Given the description of an element on the screen output the (x, y) to click on. 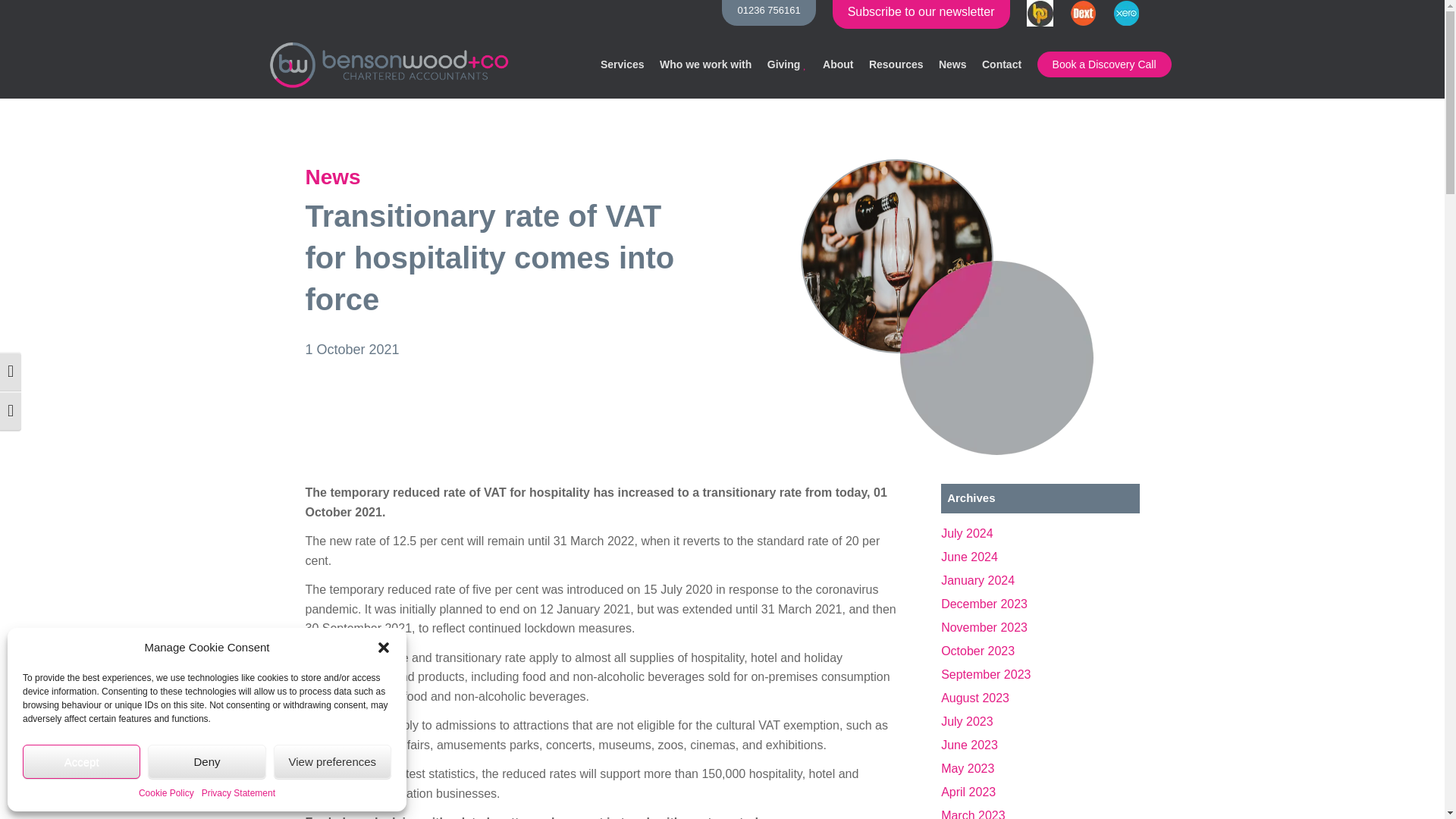
Services (622, 64)
01236 756161 (768, 12)
View preferences (332, 761)
Privacy Statement (238, 793)
Deny (206, 761)
Subscribe to our newsletter (921, 14)
Accept (81, 761)
Cookie Policy (165, 793)
